Given the description of an element on the screen output the (x, y) to click on. 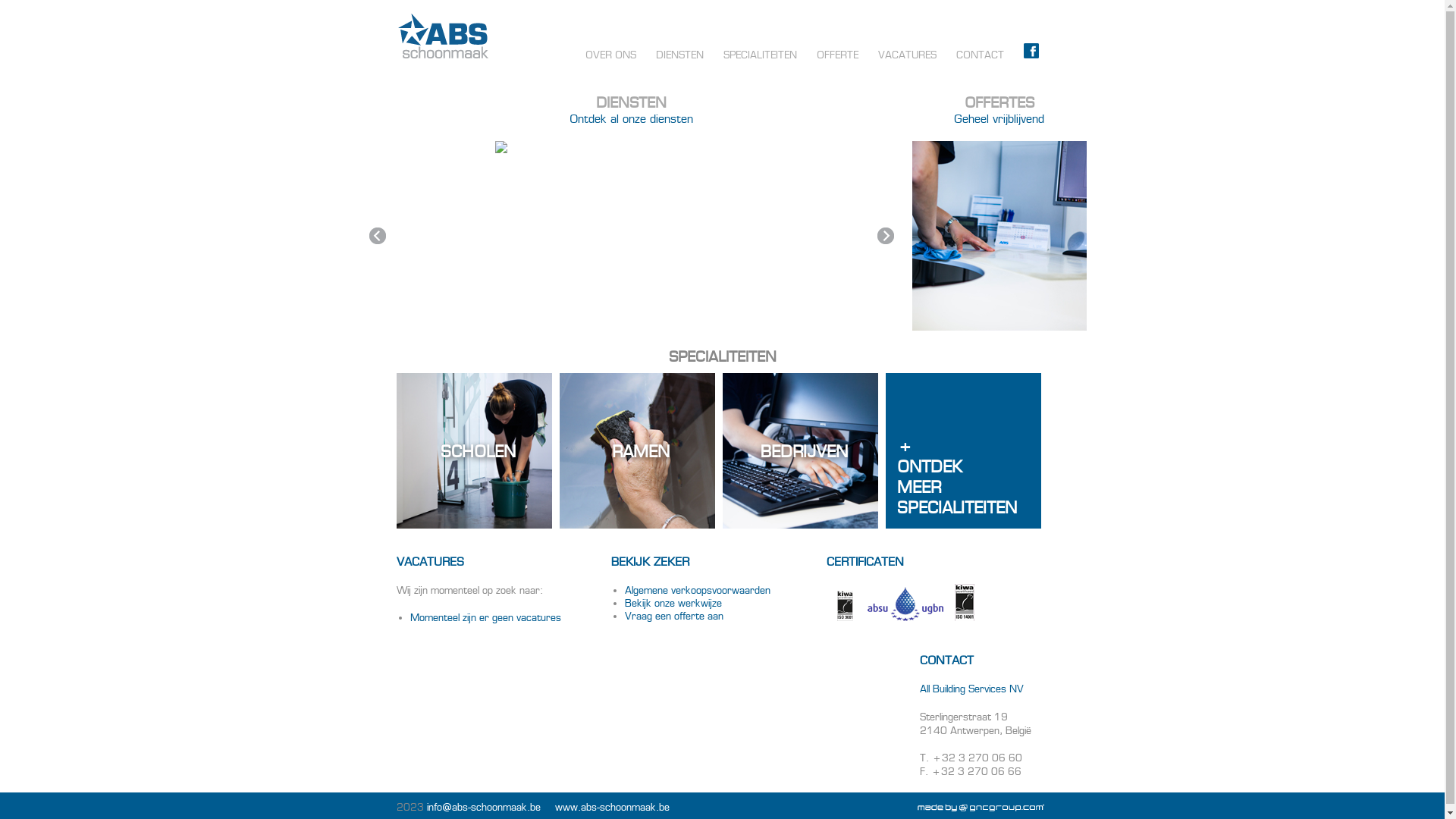
SCHOLEN Element type: text (473, 532)
ISO 14001 attest Element type: hover (965, 602)
Algemene verkoopsvoorwaarden Element type: text (697, 589)
BEDRIJVEN Element type: text (799, 532)
info@abs-schoonmaak.be Element type: text (482, 806)
Vraag een offerte aan Element type: text (673, 615)
Facebook Element type: hover (1030, 50)
SPECIALITEITEN Element type: text (759, 54)
Ramen Element type: hover (637, 450)
Bekijk onze werkwijze Element type: text (672, 602)
+
ONTDEK
MEER
SPECIALITEITEN Element type: text (963, 450)
OFFERTE Element type: text (837, 54)
RAMEN Element type: text (637, 532)
DIENSTEN Element type: text (679, 54)
OVER ONS Element type: text (609, 54)
ISO certificaat Element type: hover (845, 605)
+32 3 270 06 60 Element type: text (976, 757)
www.abs-schoonmaak.be Element type: text (612, 806)
Momenteel zijn er geen vacatures Element type: text (484, 617)
Scholen Element type: hover (473, 450)
VACATURES Element type: text (906, 54)
Bedrijven Element type: hover (799, 450)
ABSU Cleaning Quality Label Element type: hover (905, 603)
Facebook Element type: hover (1030, 54)
CONTACT Element type: text (979, 54)
